Given the description of an element on the screen output the (x, y) to click on. 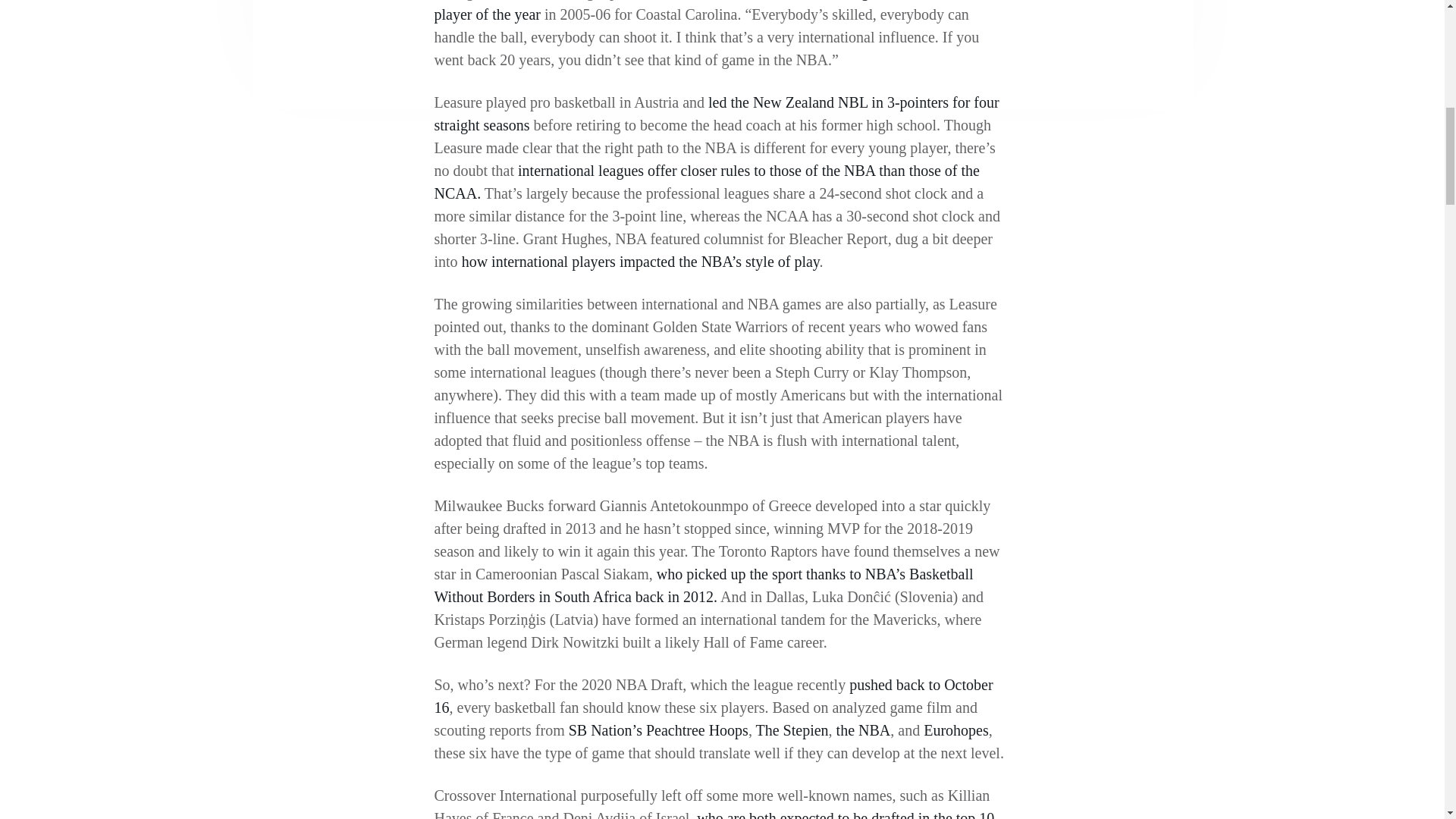
Big South Conference player of the year (707, 11)
Eurohopes (955, 729)
the NBA (863, 729)
who are both expected to be drafted in the top 10 (845, 814)
pushed back to October 16 (712, 695)
The Stepien (791, 729)
